Given the description of an element on the screen output the (x, y) to click on. 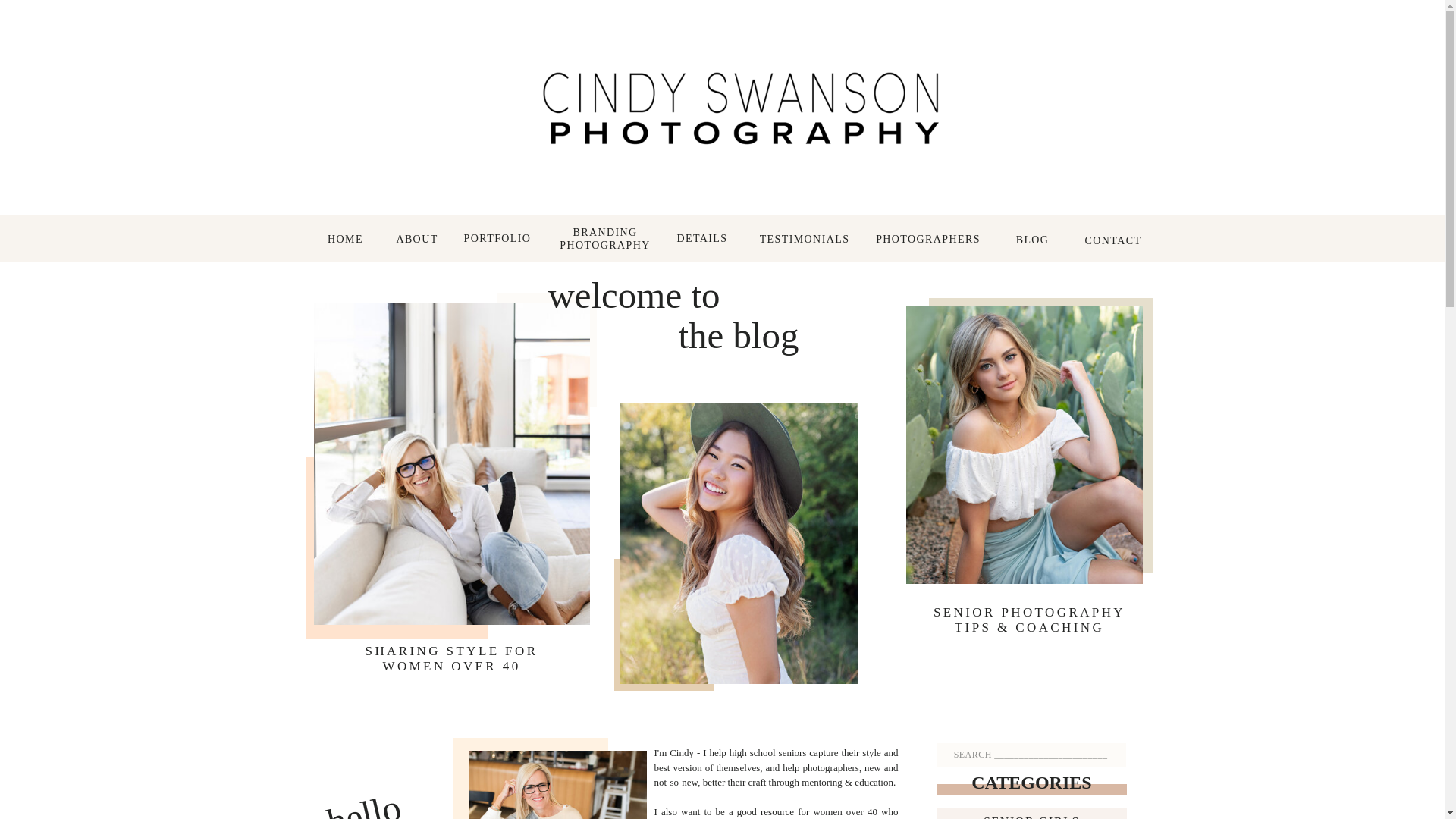
BLOG (604, 239)
ABOUT (1032, 240)
CONTACT (417, 240)
TESTIMONIALS (1113, 241)
DETAILS (804, 242)
PHOTOGRAPHERS (702, 238)
SENIOR GIRLS (928, 240)
PORTFOLIO (1031, 816)
HOME (497, 239)
